Given the description of an element on the screen output the (x, y) to click on. 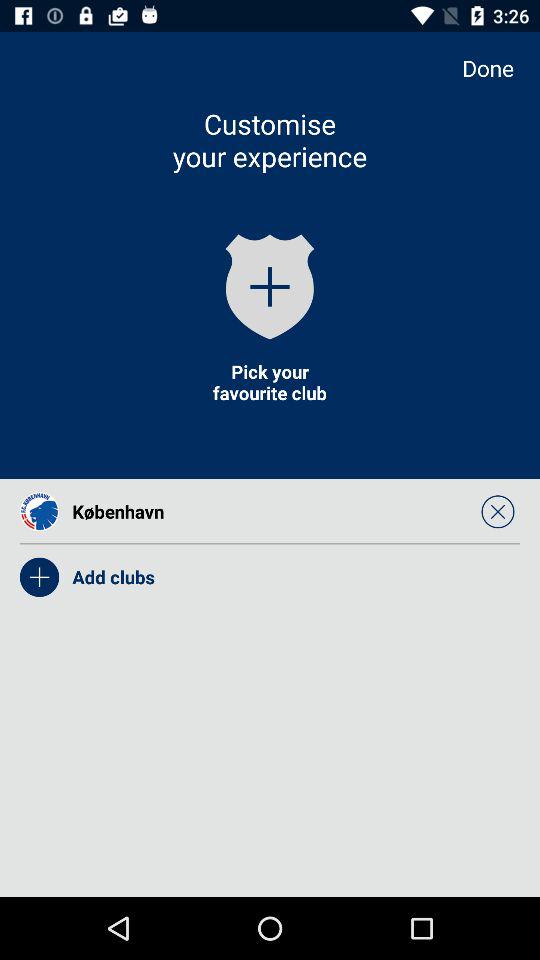
swipe until the done app (497, 68)
